Given the description of an element on the screen output the (x, y) to click on. 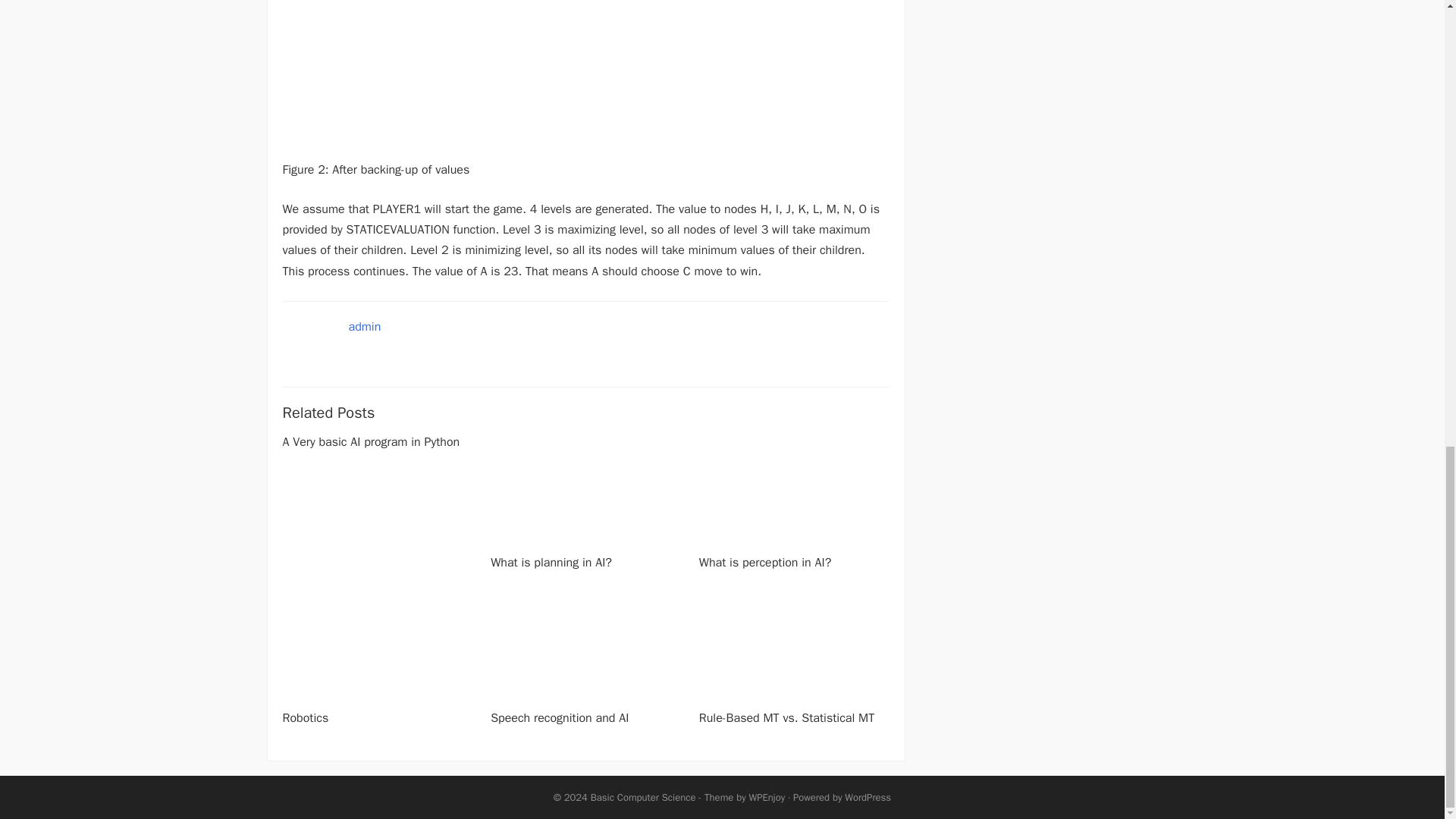
Speech recognition and AI (559, 717)
Basic Computer Science (643, 797)
What is planning in AI? (550, 562)
Robotics (305, 717)
What is perception in AI? (764, 562)
WordPress (867, 797)
Rule-Based MT vs. Statistical MT (786, 717)
WPEnjoy (767, 797)
A Very basic AI program in Python (371, 441)
admin (365, 326)
